Given the description of an element on the screen output the (x, y) to click on. 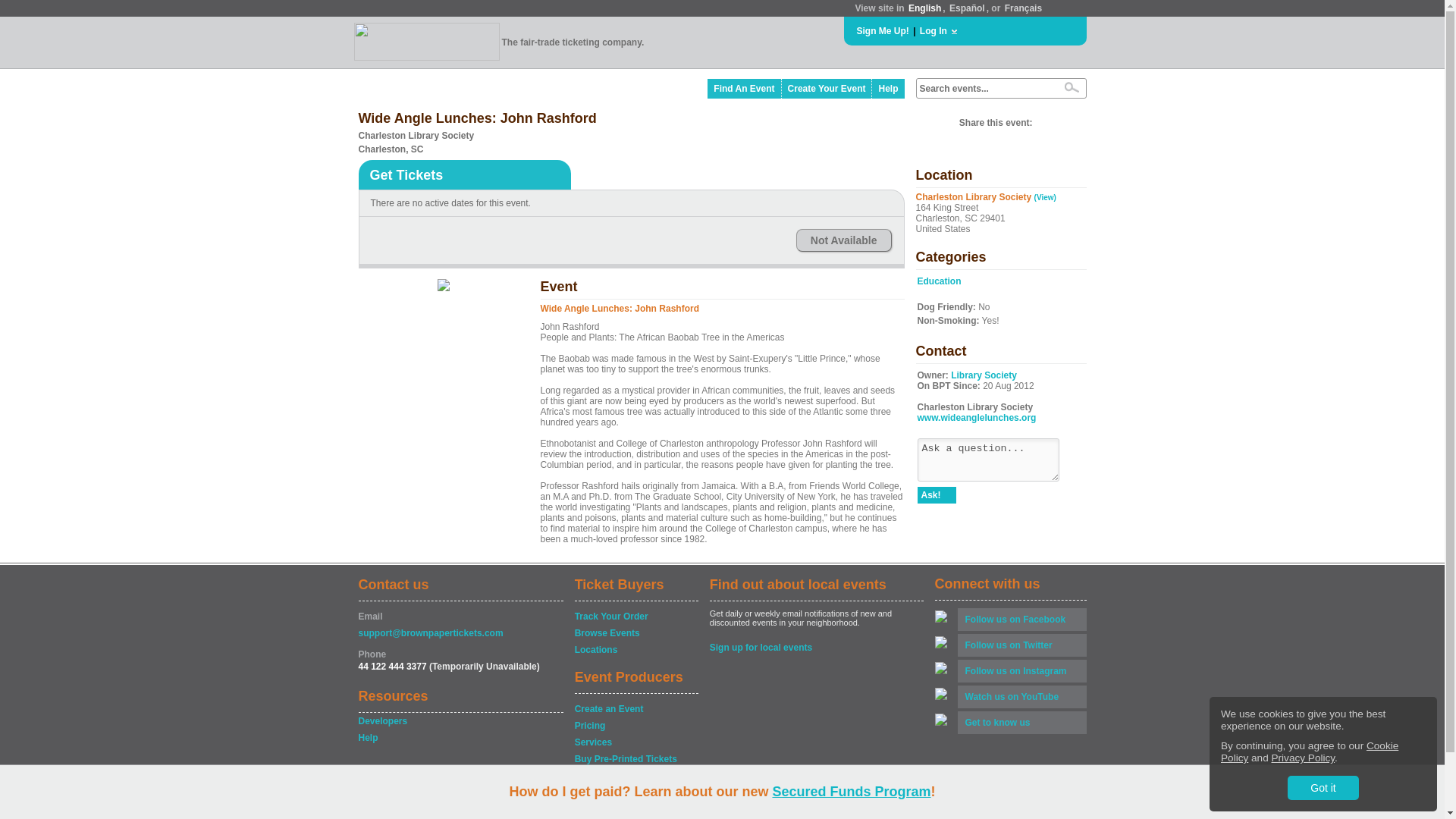
Help (888, 88)
Library Society (983, 375)
Follow us on Twitter (1021, 644)
Sign Me Up! (883, 30)
Track Your Order (636, 616)
Privacy Policy (1303, 757)
Log In (933, 30)
Ask! (936, 494)
Follow us on Facebook (1021, 619)
Browse Events (636, 632)
Submit to Twitter! (1048, 122)
Cookie Policy (1309, 751)
Got it (1322, 787)
Create an Event (636, 708)
The Venue List (636, 775)
